Given the description of an element on the screen output the (x, y) to click on. 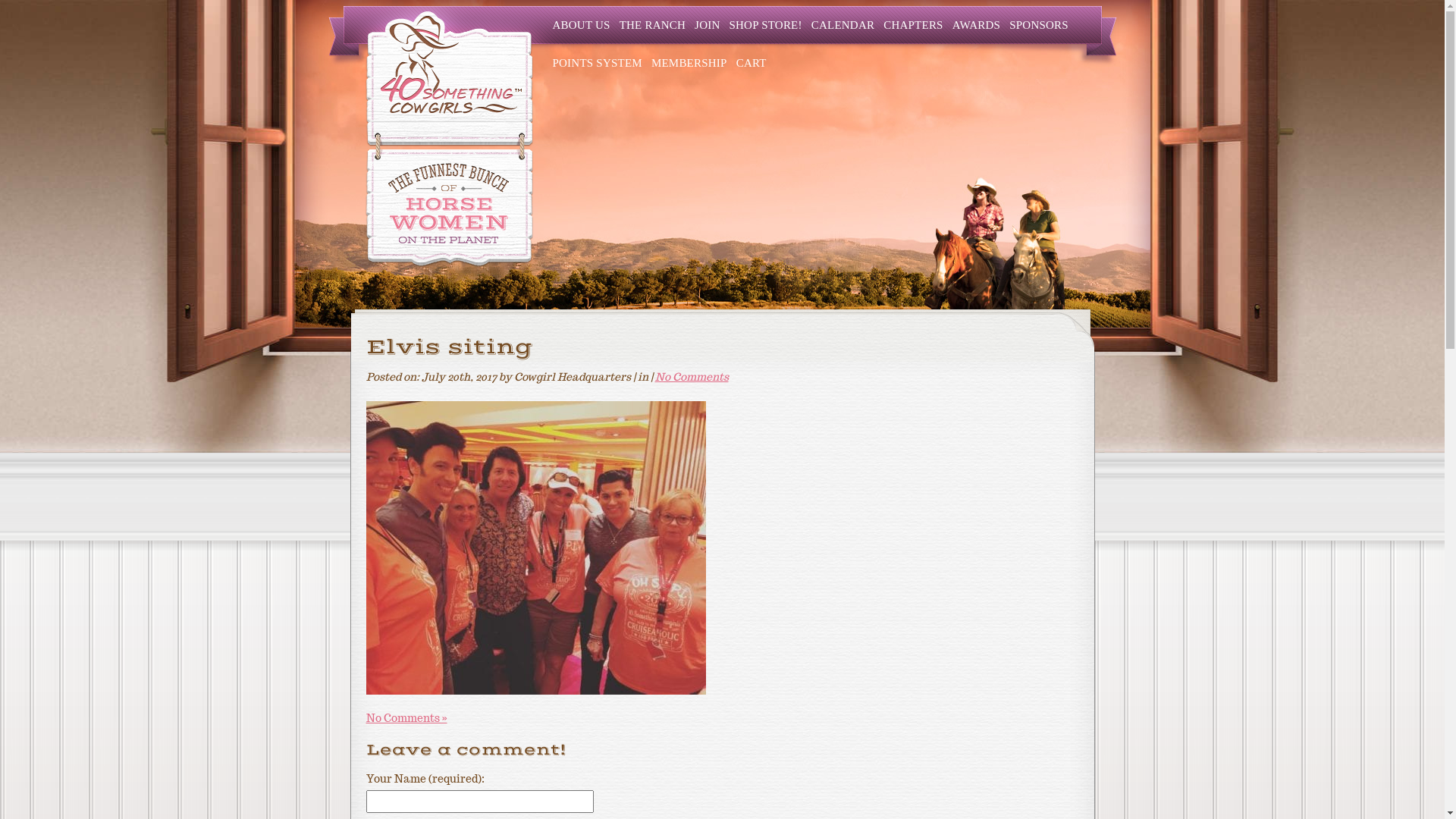
POINTS SYSTEM Element type: text (596, 62)
No Comments Element type: text (691, 376)
SPONSORS Element type: text (1038, 24)
AWARDS Element type: text (976, 24)
CALENDAR Element type: text (842, 24)
CART Element type: text (751, 62)
SHOP STORE! Element type: text (765, 24)
ABOUT US Element type: text (580, 24)
MEMBERSHIP Element type: text (688, 62)
CHAPTERS Element type: text (912, 24)
THE RANCH Element type: text (652, 24)
JOIN Element type: text (707, 24)
